Given the description of an element on the screen output the (x, y) to click on. 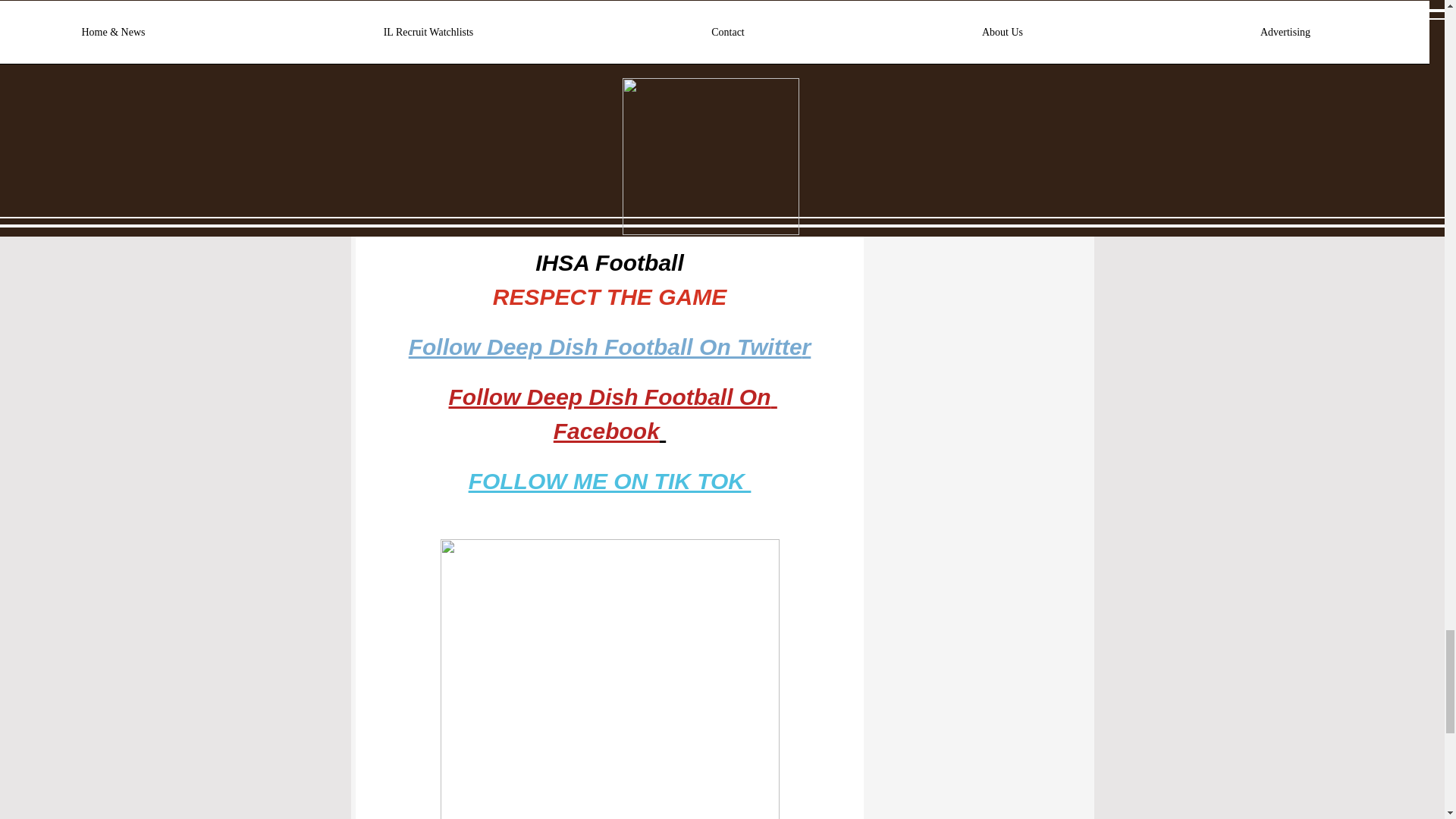
Follow Deep Dish Football On Facebook (612, 417)
ollow Deep Dish Football On Twitte (612, 350)
FOLLOW ME ON TIK TOK  (609, 485)
